Given the description of an element on the screen output the (x, y) to click on. 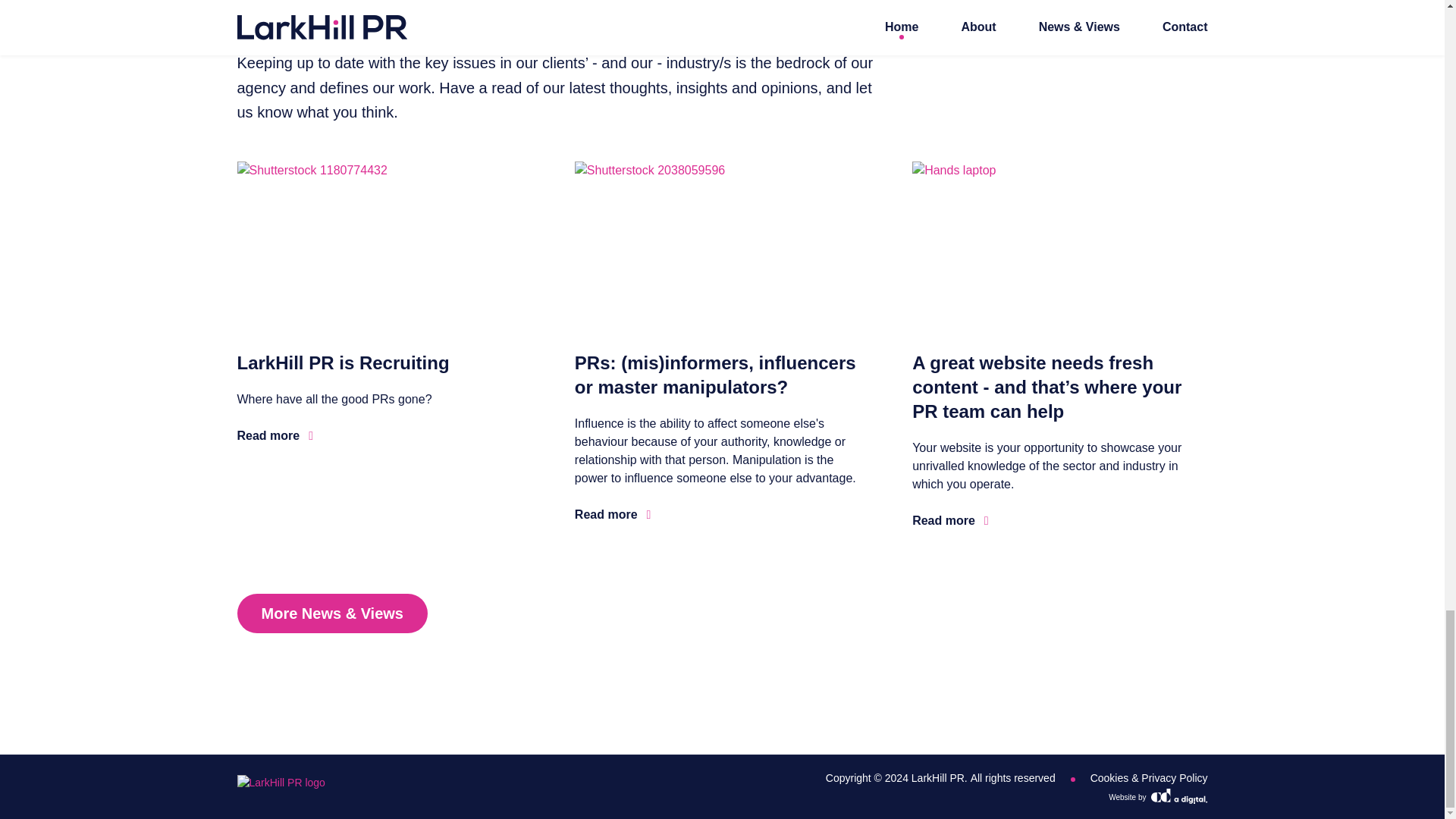
Website by (1157, 797)
LarkHill PR is Recruiting (341, 362)
Read more (274, 435)
Read more (950, 520)
Read more (612, 515)
